Given the description of an element on the screen output the (x, y) to click on. 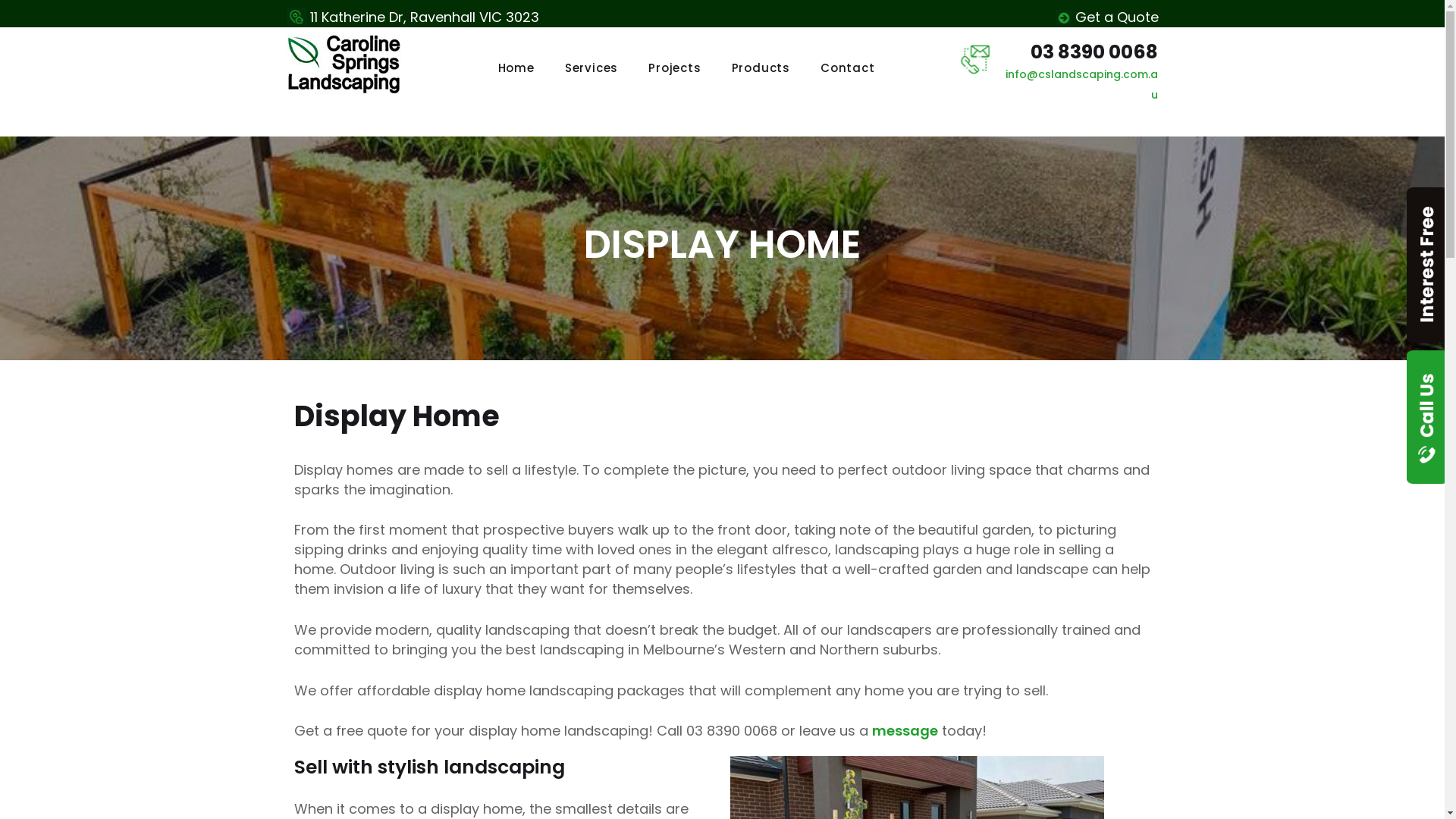
Projects Element type: text (674, 67)
Get a Quote Element type: text (1116, 16)
03 8390 0068 Element type: text (1093, 51)
info@cslandscaping.com.au Element type: text (1081, 84)
Services Element type: text (591, 67)
Contact Element type: text (847, 67)
Products Element type: text (760, 67)
message Element type: text (905, 730)
Home Element type: text (516, 67)
